Given the description of an element on the screen output the (x, y) to click on. 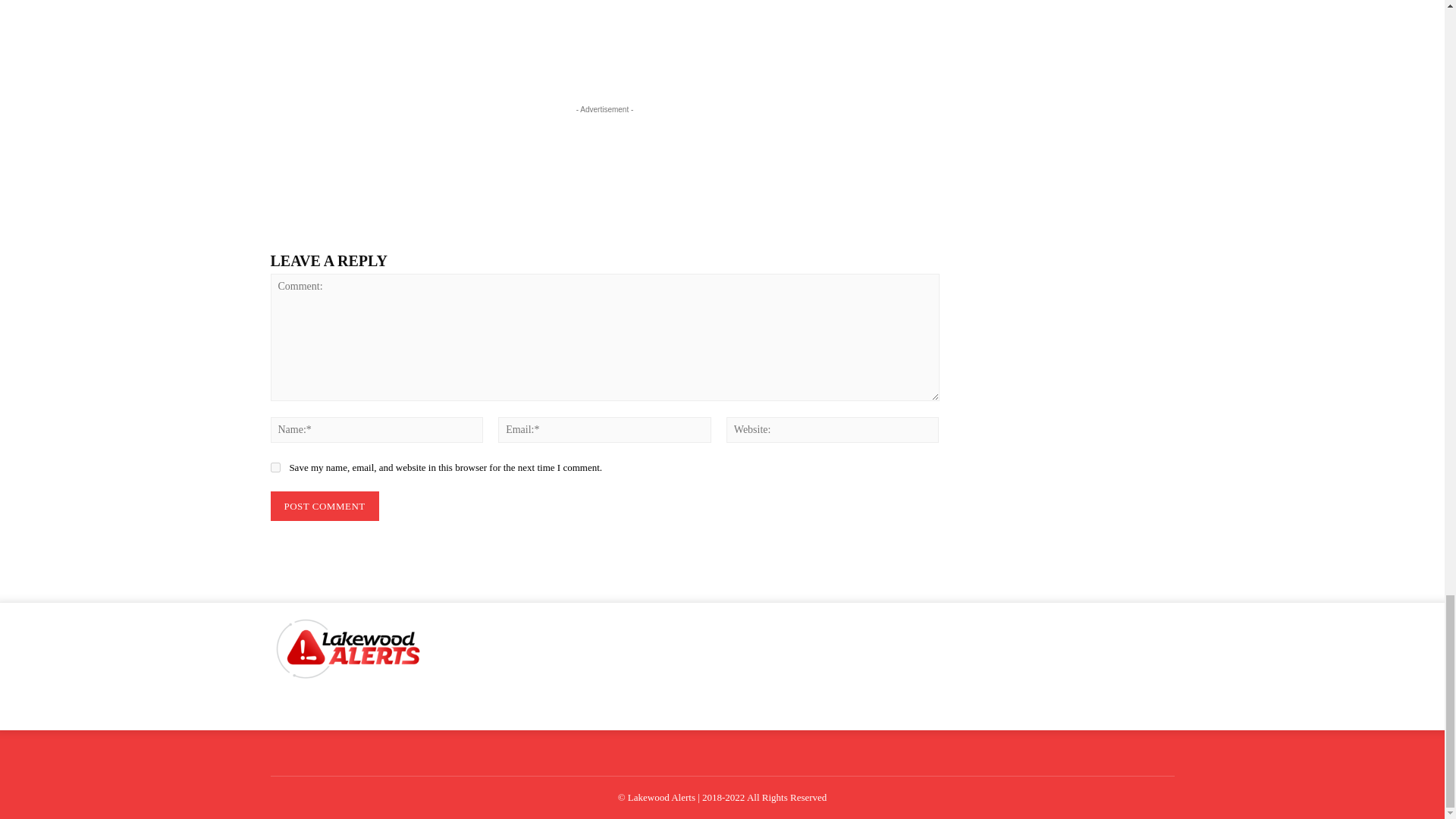
Post Comment (323, 506)
yes (274, 467)
